Given the description of an element on the screen output the (x, y) to click on. 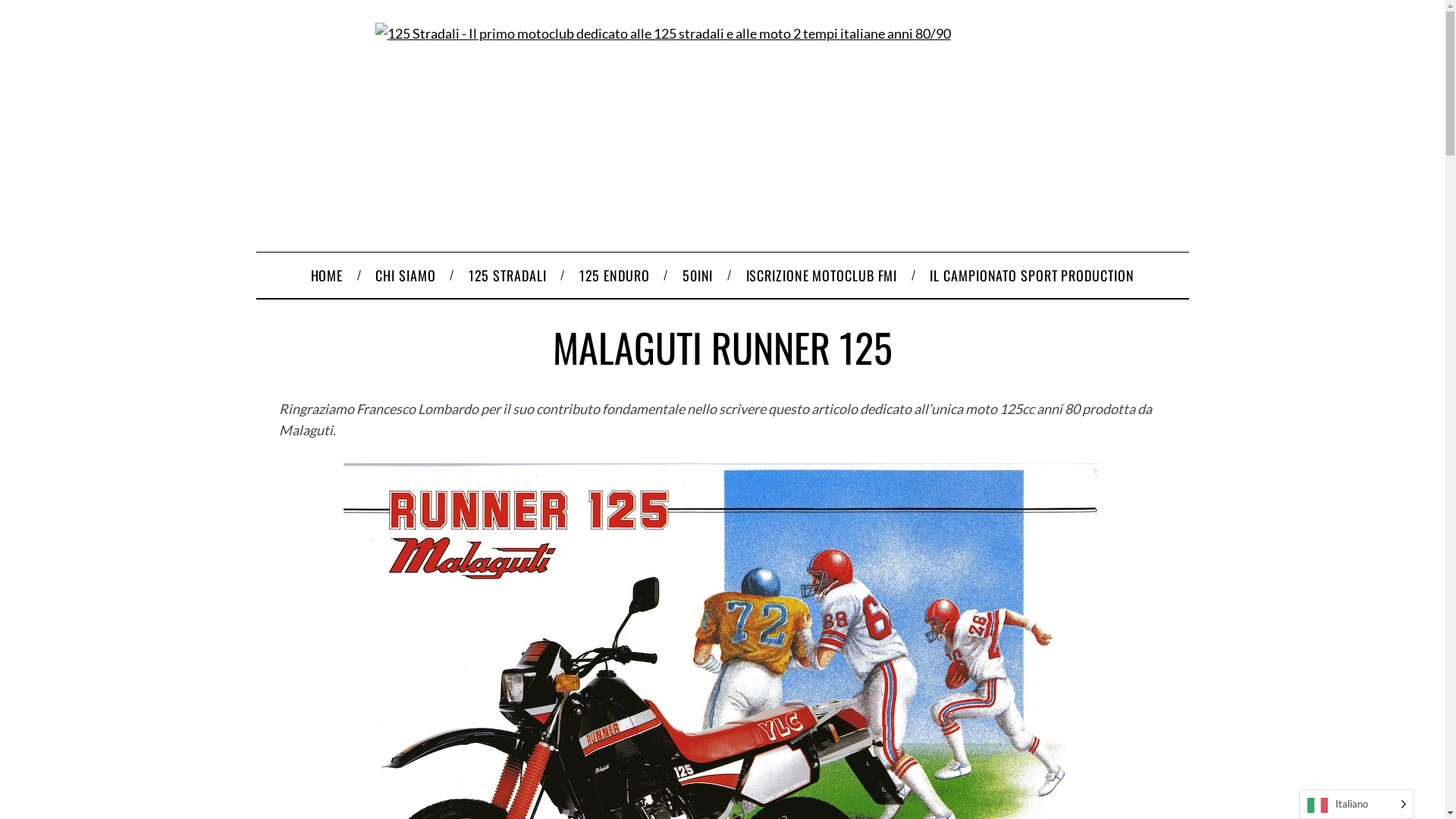
HOME Element type: text (326, 275)
125 STRADALI Element type: text (506, 275)
125 ENDURO Element type: text (613, 275)
CHI SIAMO Element type: text (405, 275)
ISCRIZIONE MOTOCLUB FMI Element type: text (821, 275)
IL CAMPIONATO SPORT PRODUCTION Element type: text (1031, 275)
50INI Element type: text (697, 275)
